Given the description of an element on the screen output the (x, y) to click on. 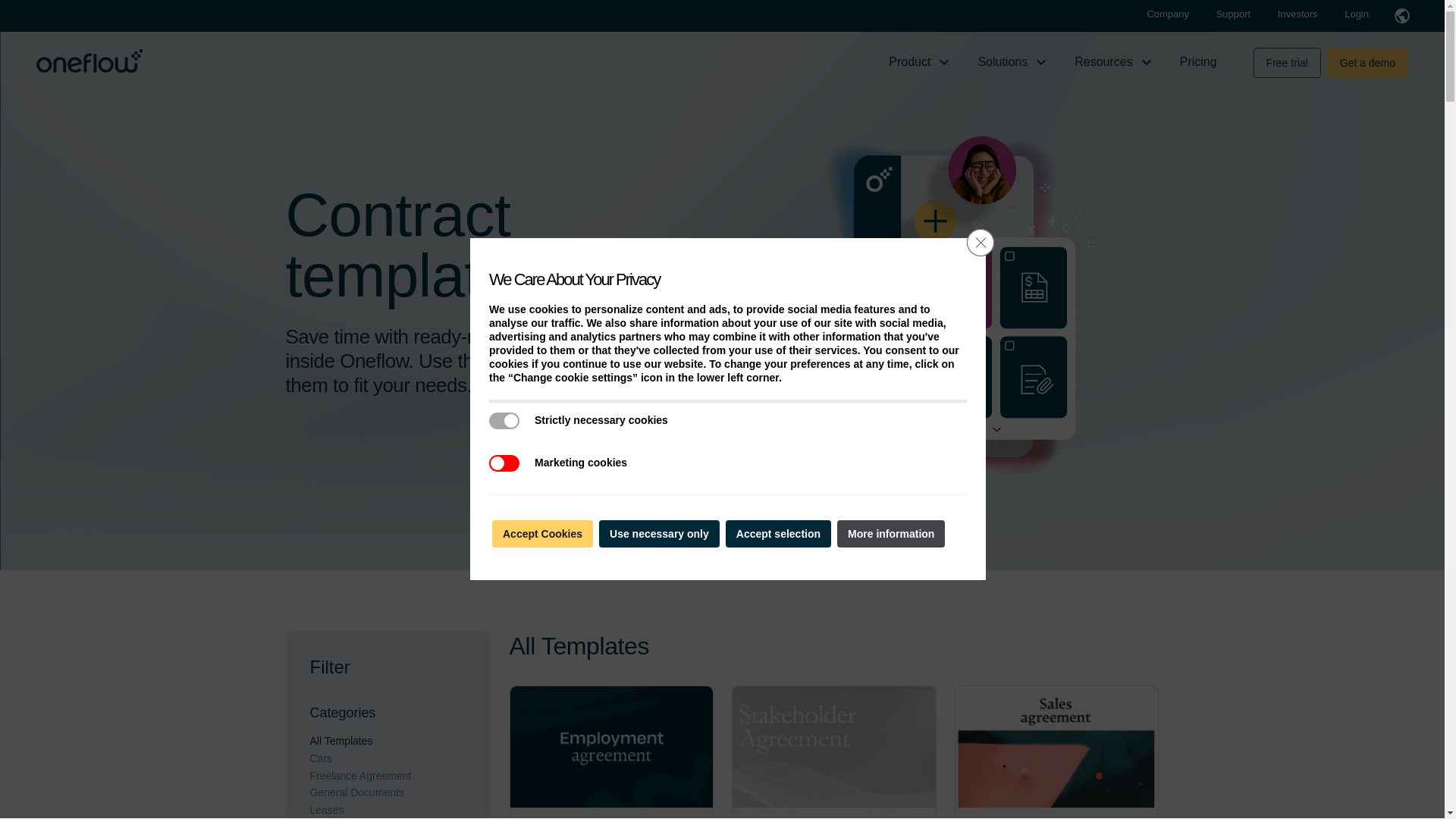
Support (1234, 13)
Chat (1406, 779)
Company (1169, 13)
Login (1355, 13)
Select Language (1401, 15)
Accept selection (778, 533)
Investors (1299, 13)
